Given the description of an element on the screen output the (x, y) to click on. 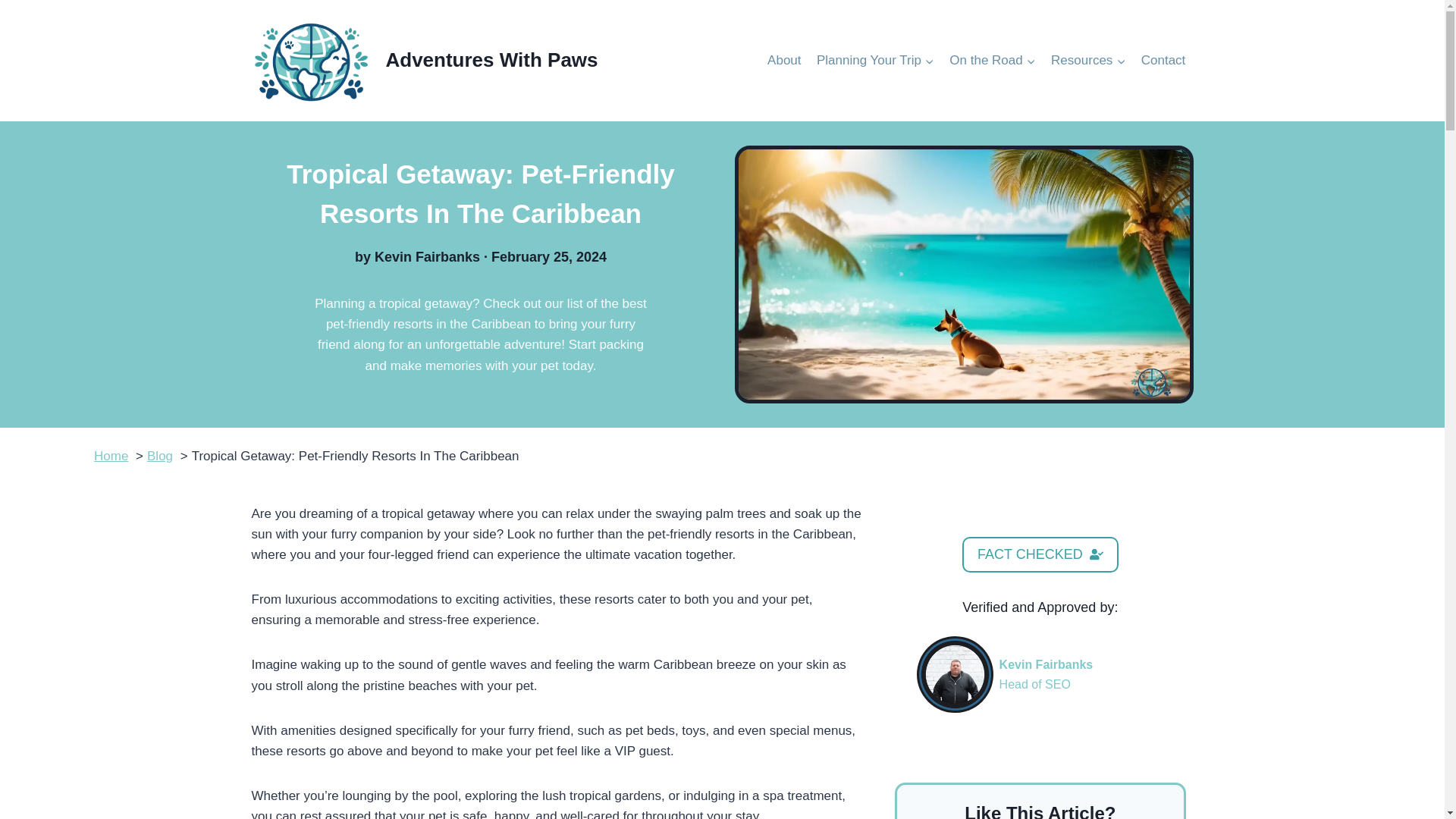
Blog (160, 455)
Resources (1088, 60)
On the Road (992, 60)
Planning Your Trip (875, 60)
Home (111, 455)
About (784, 60)
Adventures With Paws (424, 60)
Contact (1163, 60)
